Given the description of an element on the screen output the (x, y) to click on. 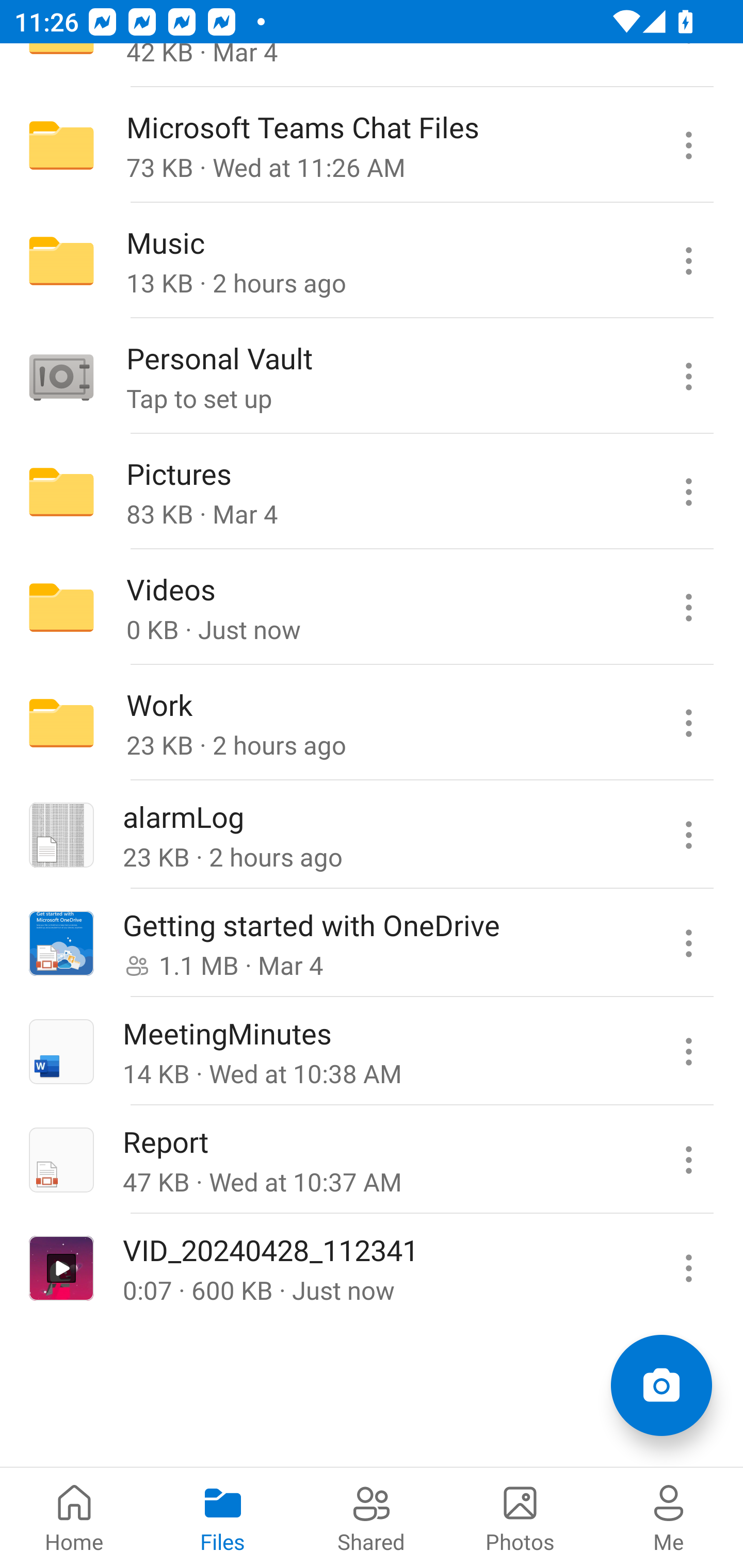
Microsoft Teams Chat Files commands (688, 145)
Folder Music 13 KB · 2 hours ago Music commands (371, 260)
Music commands (688, 260)
Personal Vault commands (688, 376)
Folder Pictures 83 KB · Mar 4 Pictures commands (371, 492)
Pictures commands (688, 492)
Folder Videos 0 KB · Just now Videos commands (371, 607)
Videos commands (688, 607)
Folder Work 23 KB · 2 hours ago Work commands (371, 722)
Work commands (688, 722)
alarmLog commands (688, 834)
Getting started with OneDrive commands (688, 943)
MeetingMinutes commands (688, 1051)
Report commands (688, 1159)
VID_20240428_112341 commands (688, 1267)
Add items Scan (660, 1385)
Home pivot Home (74, 1517)
Shared pivot Shared (371, 1517)
Photos pivot Photos (519, 1517)
Me pivot Me (668, 1517)
